Given the description of an element on the screen output the (x, y) to click on. 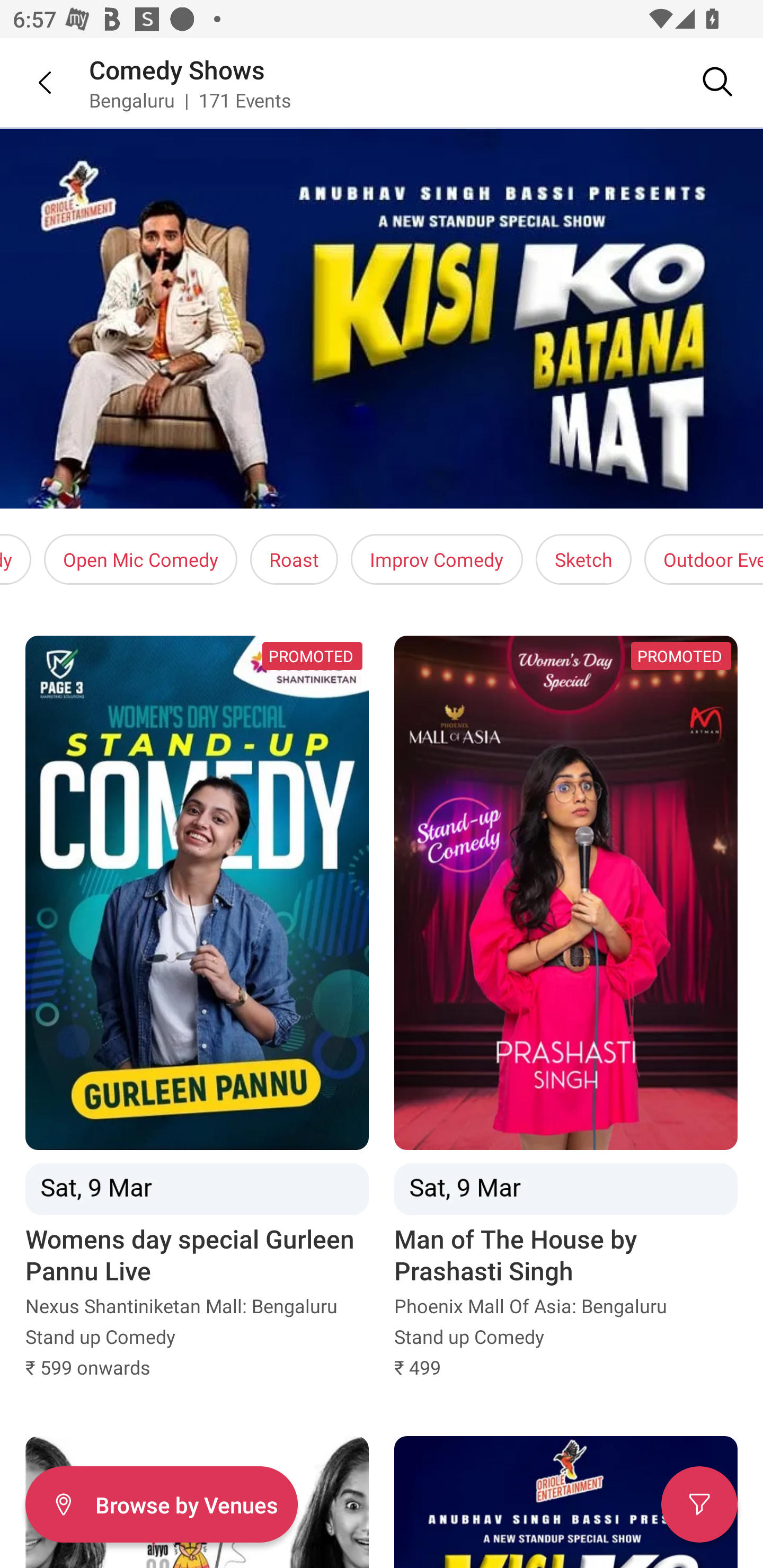
Back (31, 82)
Comedy Shows (176, 68)
Bengaluru  |  171 Events (190, 99)
Open Mic Comedy (140, 559)
Roast (294, 559)
Improv Comedy (436, 559)
Sketch (583, 559)
Filter Browse by Venues (161, 1504)
Filter (699, 1504)
